Given the description of an element on the screen output the (x, y) to click on. 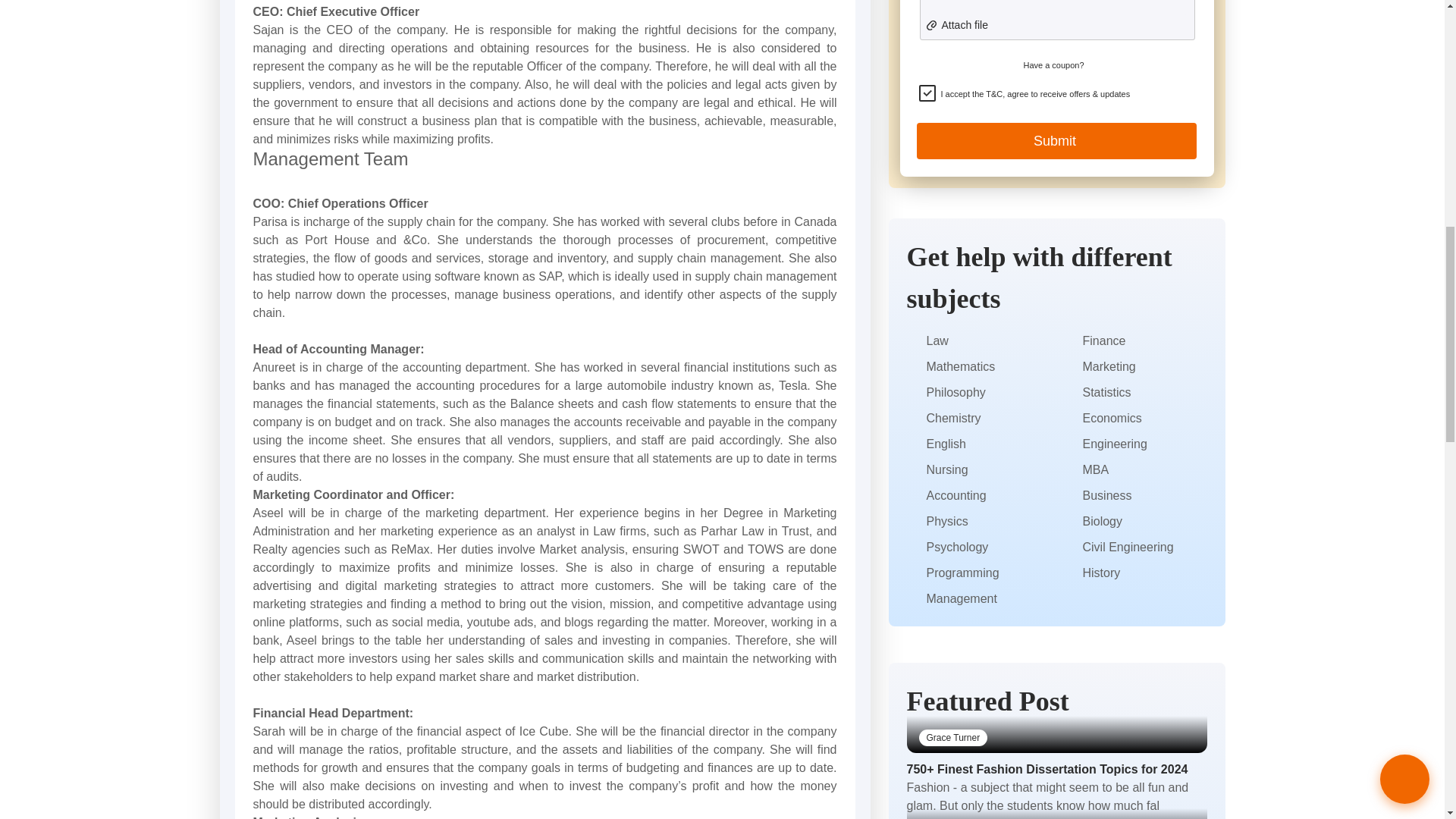
diffrent-subjects (912, 470)
diffrent-subjects (912, 341)
diffrent-subjects (912, 419)
diffrent-subjects (912, 393)
diffrent-subjects (912, 367)
diffrent-subjects (912, 444)
